Given the description of an element on the screen output the (x, y) to click on. 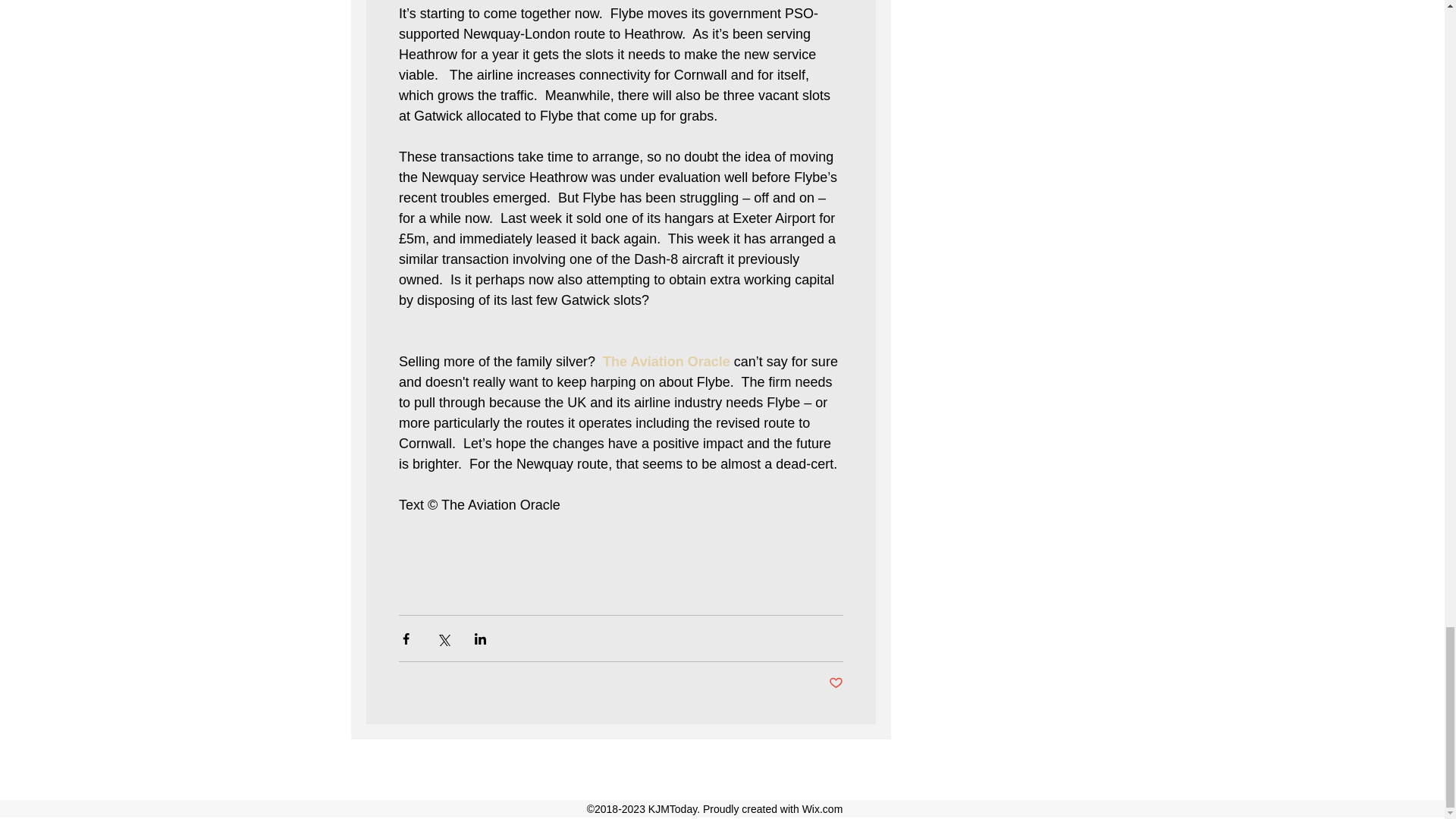
The Aviation Oracle (666, 361)
